Given the description of an element on the screen output the (x, y) to click on. 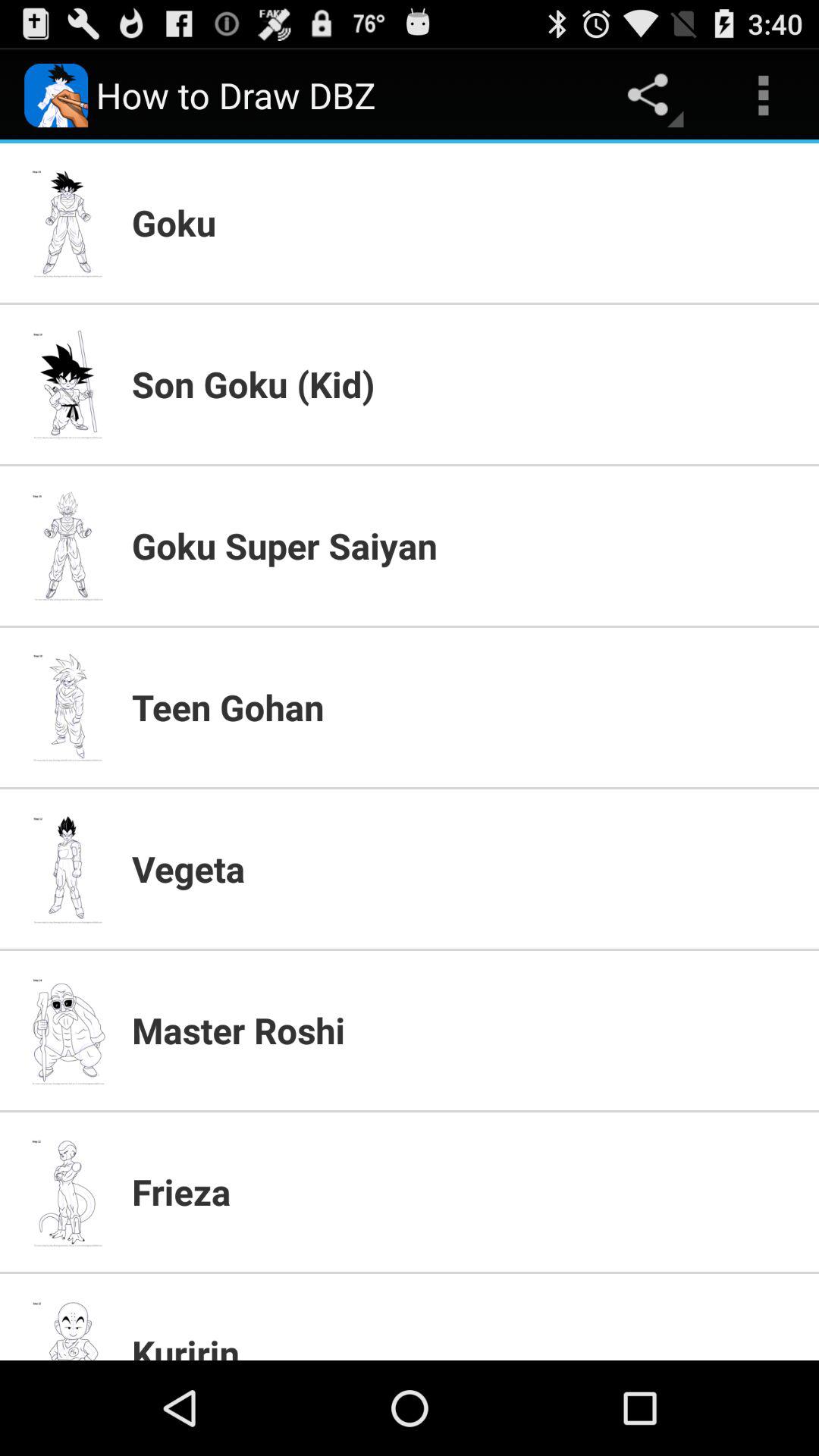
choose app below the master roshi app (465, 1191)
